Given the description of an element on the screen output the (x, y) to click on. 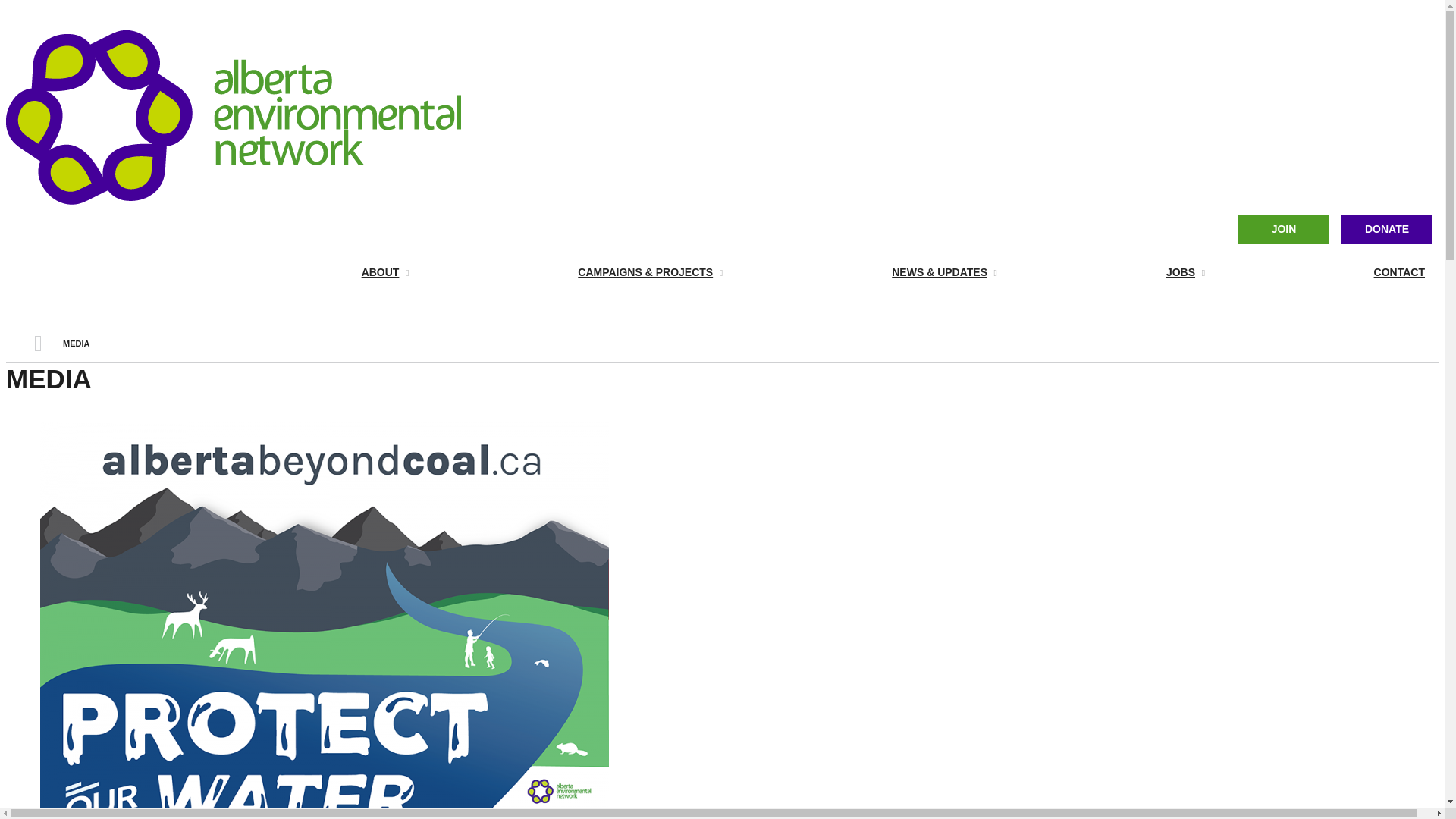
ABOUT Element type: text (311, 272)
Skip to main content Element type: text (56, 0)
NEWS & UPDATES Element type: text (871, 272)
ALBERTA-BEYOND-COAL-W1000.PNG Element type: text (225, 448)
CAMPAIGNS & PROJECTS Element type: text (577, 272)
CONTACT Element type: text (1327, 272)
JOIN Element type: text (1283, 229)
JOBS Element type: text (1112, 272)
DONATE Element type: text (1386, 229)
Home Element type: hover (233, 200)
HOME Element type: text (38, 343)
